Given the description of an element on the screen output the (x, y) to click on. 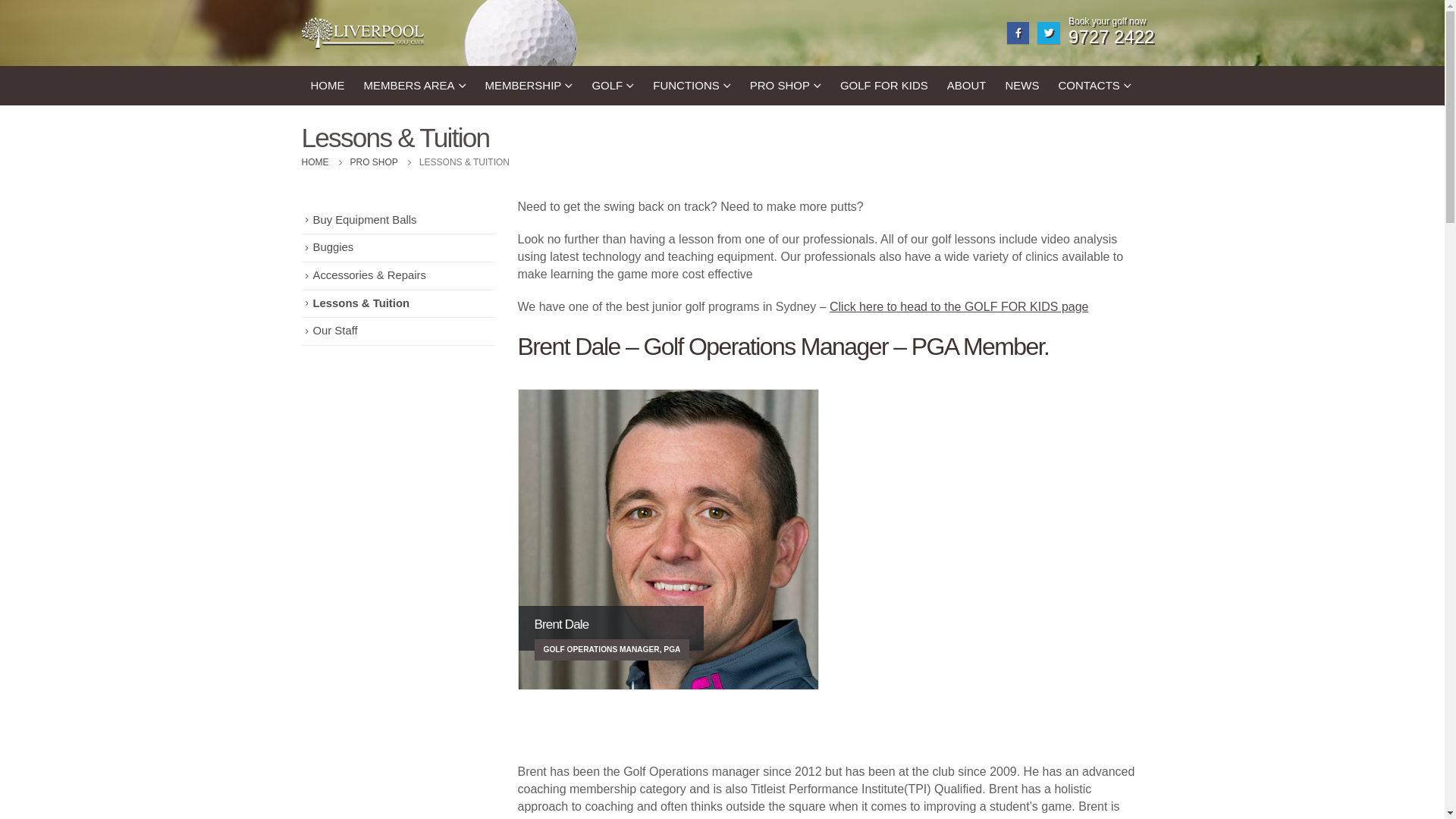
Click here to head to the GOLF FOR KIDS page Element type: text (958, 306)
NEWS Element type: text (1021, 85)
HOME Element type: text (315, 162)
CONTACTS Element type: text (1093, 85)
Twitter Element type: hover (1048, 32)
PRO SHOP Element type: text (374, 162)
MEMBERSHIP Element type: text (529, 85)
Buy Equipment Balls Element type: text (364, 219)
Accessories & Repairs Element type: text (368, 275)
Facebook Element type: hover (1018, 32)
GOLF FOR KIDS Element type: text (884, 85)
GOLF Element type: text (612, 85)
Our Staff Element type: text (334, 330)
FUNCTIONS Element type: text (691, 85)
PRO SHOP Element type: text (785, 85)
Lessons & Tuition Element type: text (360, 303)
MEMBERS AREA Element type: text (414, 85)
Buggies Element type: text (332, 247)
HOME Element type: text (327, 85)
ABOUT Element type: text (966, 85)
